Given the description of an element on the screen output the (x, y) to click on. 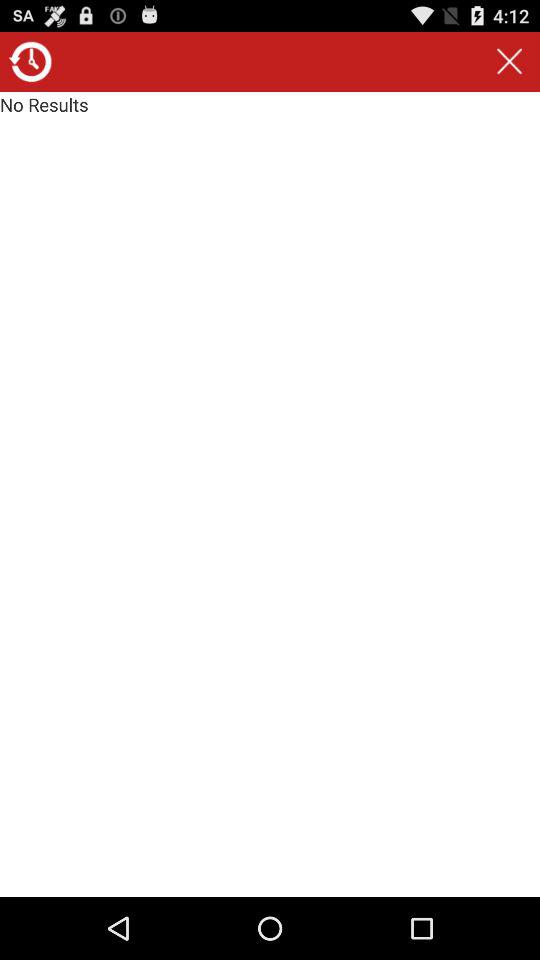
close page (509, 61)
